Given the description of an element on the screen output the (x, y) to click on. 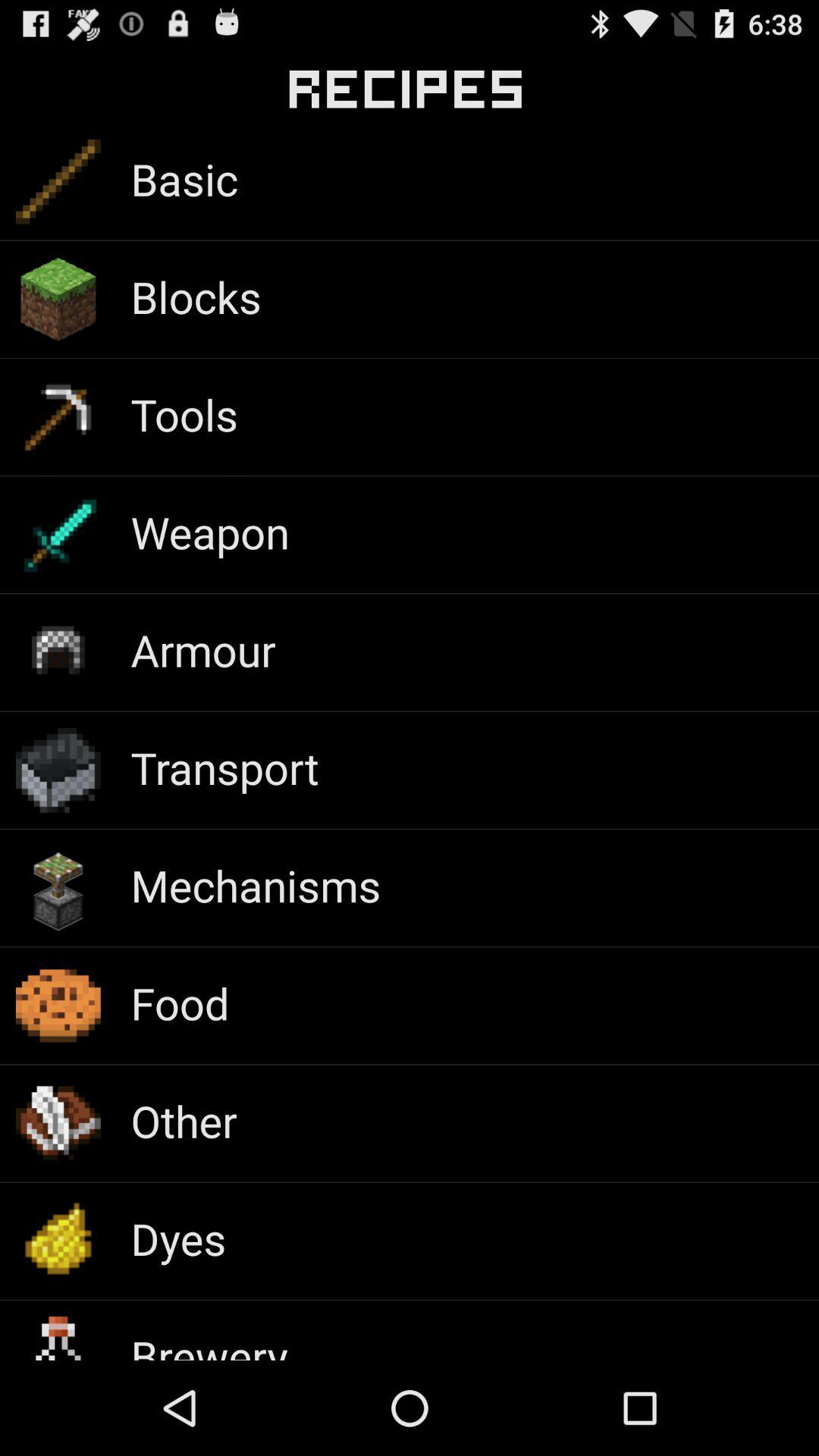
jump to transport (224, 767)
